Given the description of an element on the screen output the (x, y) to click on. 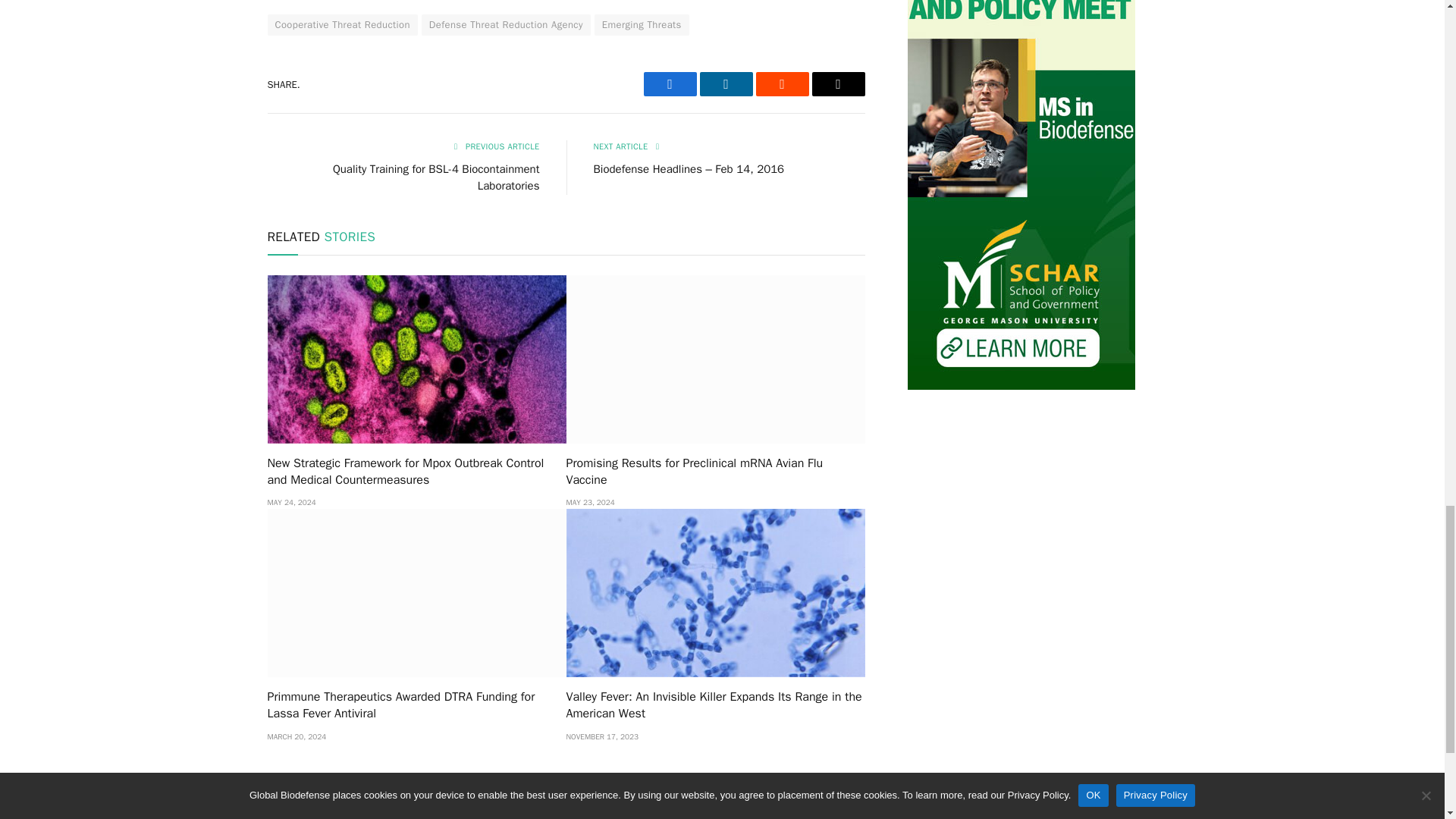
Quality Training for BSL-4 Biocontainment Laboratories (436, 177)
Reddit (781, 84)
LinkedIn (725, 84)
Email (837, 84)
Cooperative Threat Reduction (341, 25)
Share on Facebook (669, 84)
Emerging Threats (641, 25)
Defense Threat Reduction Agency (506, 25)
Facebook (669, 84)
